Given the description of an element on the screen output the (x, y) to click on. 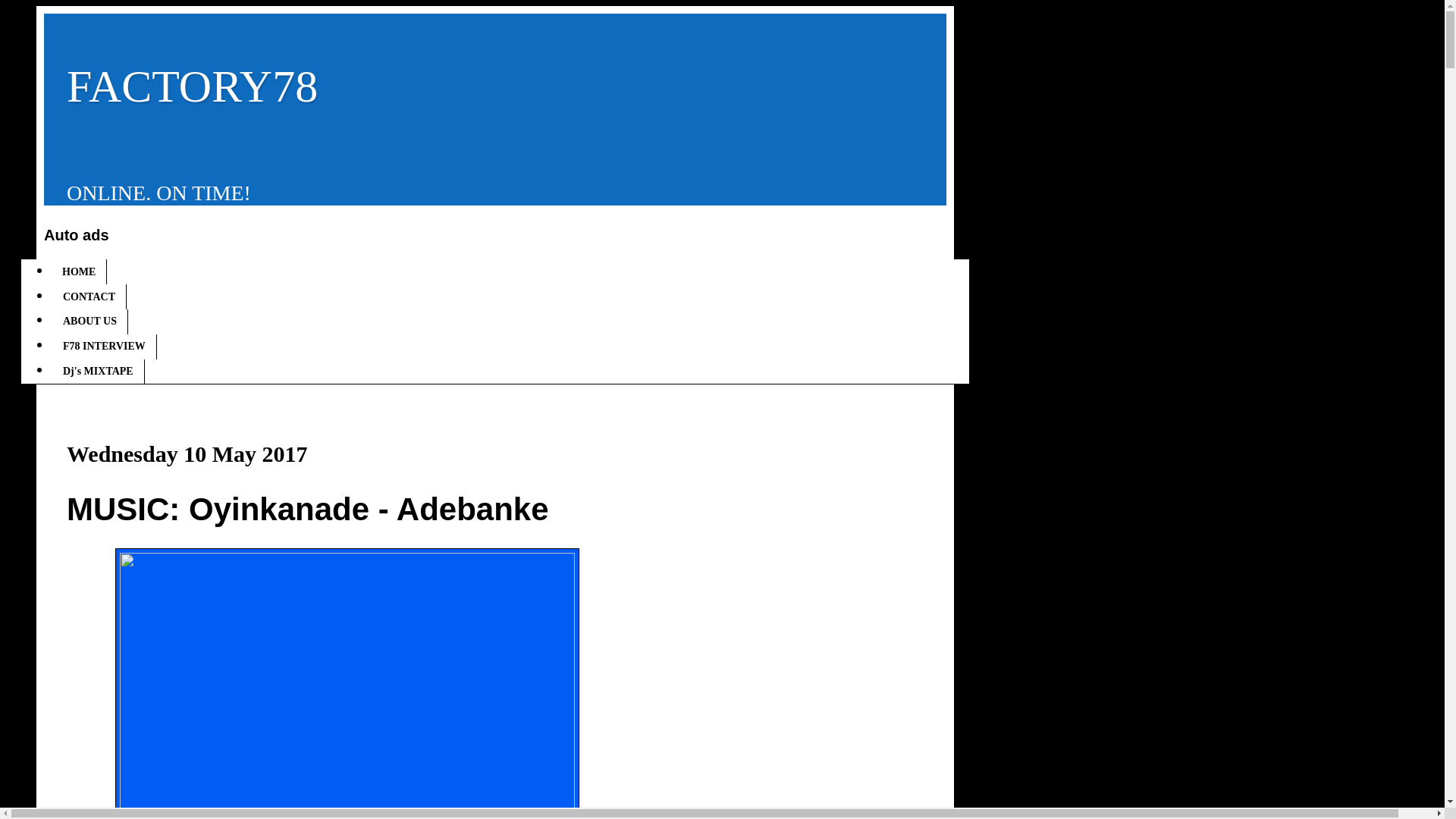
HOME (78, 271)
Dj's MIXTAPE (97, 371)
FACTORY78 (191, 86)
F78 INTERVIEW (103, 346)
ABOUT US (89, 321)
CONTACT (88, 296)
